Given the description of an element on the screen output the (x, y) to click on. 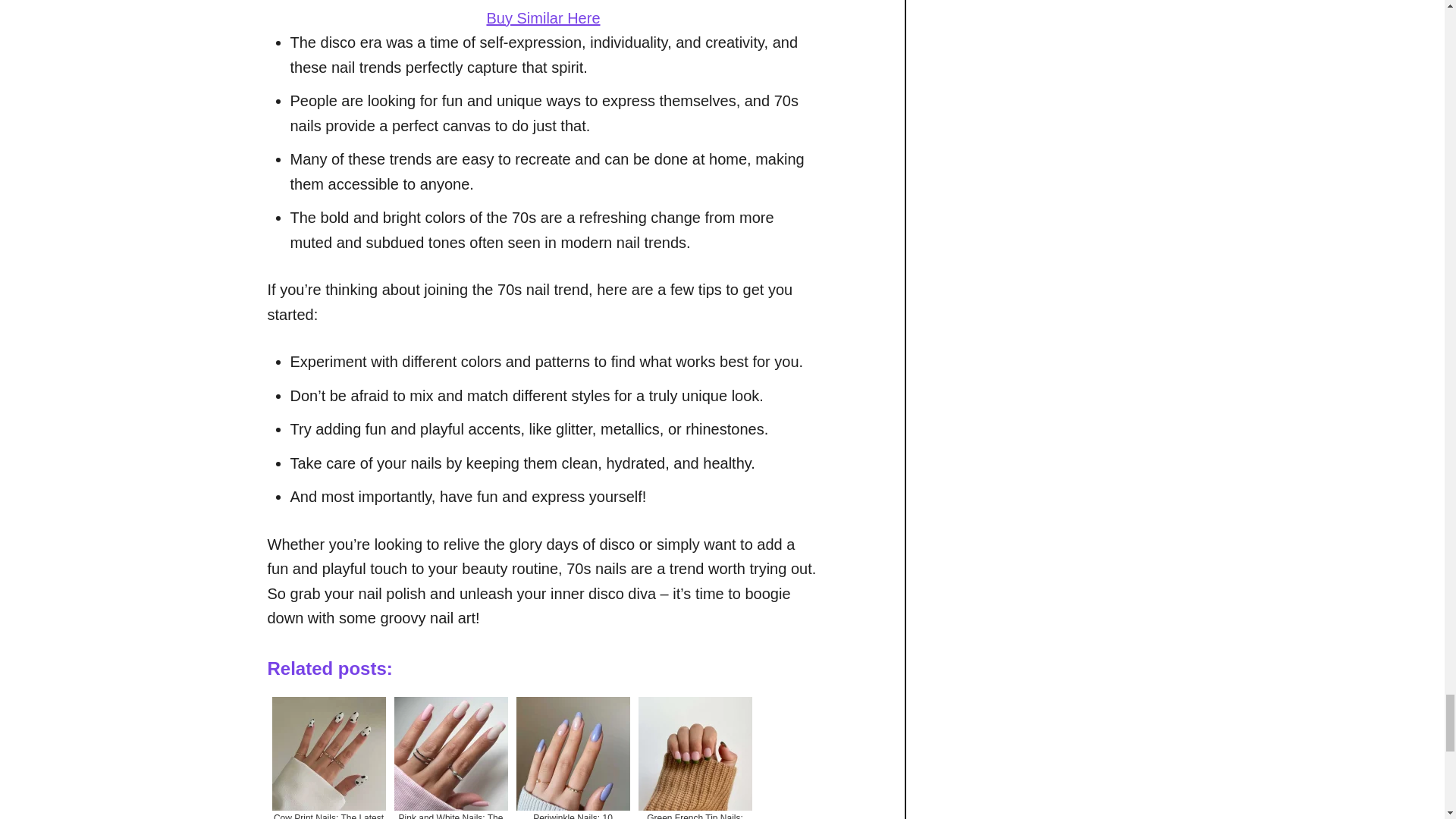
Cow Print Nails: The Latest Trend You Need to Try (328, 755)
Pink and White Nails: The Ultimate Guide on Classic Manicure (451, 755)
Buy Similar Here (542, 17)
Green French Tip Nails: The Perfect Nail Trend for Spring (695, 755)
